Given the description of an element on the screen output the (x, y) to click on. 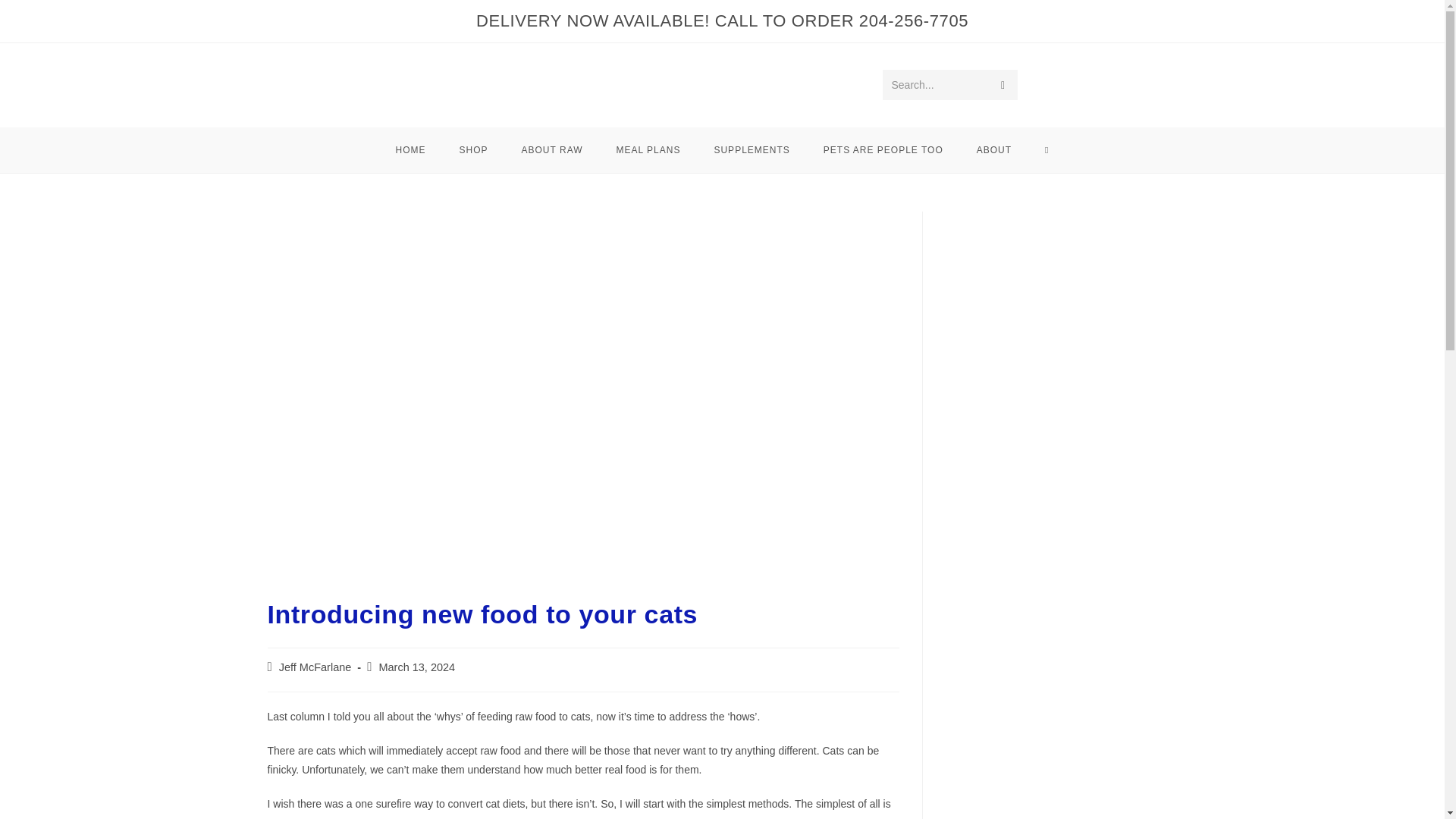
ABOUT RAW (552, 149)
Posts by Jeff McFarlane (315, 666)
MEAL PLANS (648, 149)
SHOP (473, 149)
SUPPLEMENTS (751, 149)
HOME (410, 149)
Jeff McFarlane (315, 666)
PETS ARE PEOPLE TOO (882, 149)
ABOUT (993, 149)
